Given the description of an element on the screen output the (x, y) to click on. 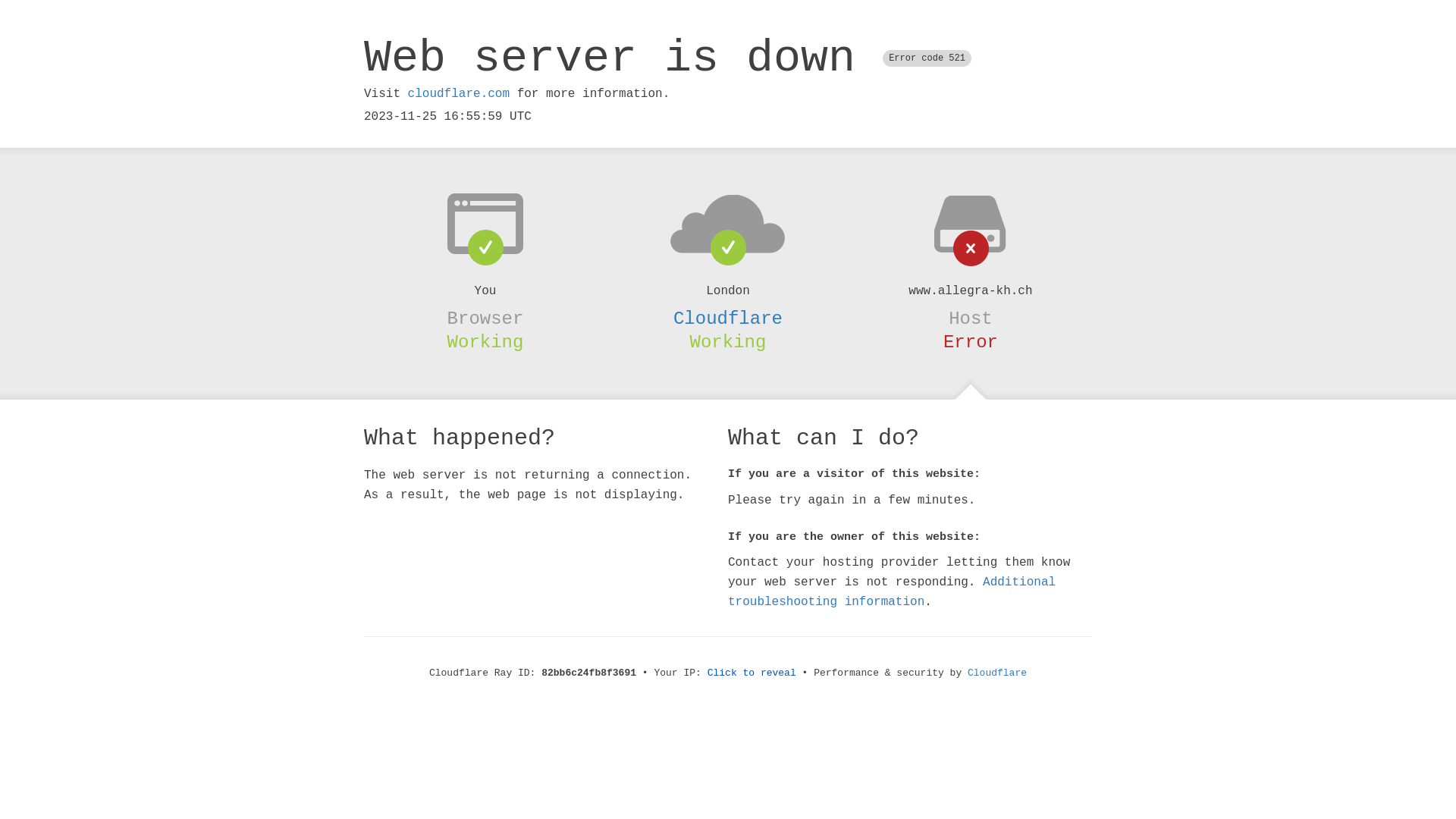
Click to reveal Element type: text (751, 672)
Cloudflare Element type: text (727, 318)
Additional troubleshooting information Element type: text (891, 591)
cloudflare.com Element type: text (458, 93)
Cloudflare Element type: text (996, 672)
